Given the description of an element on the screen output the (x, y) to click on. 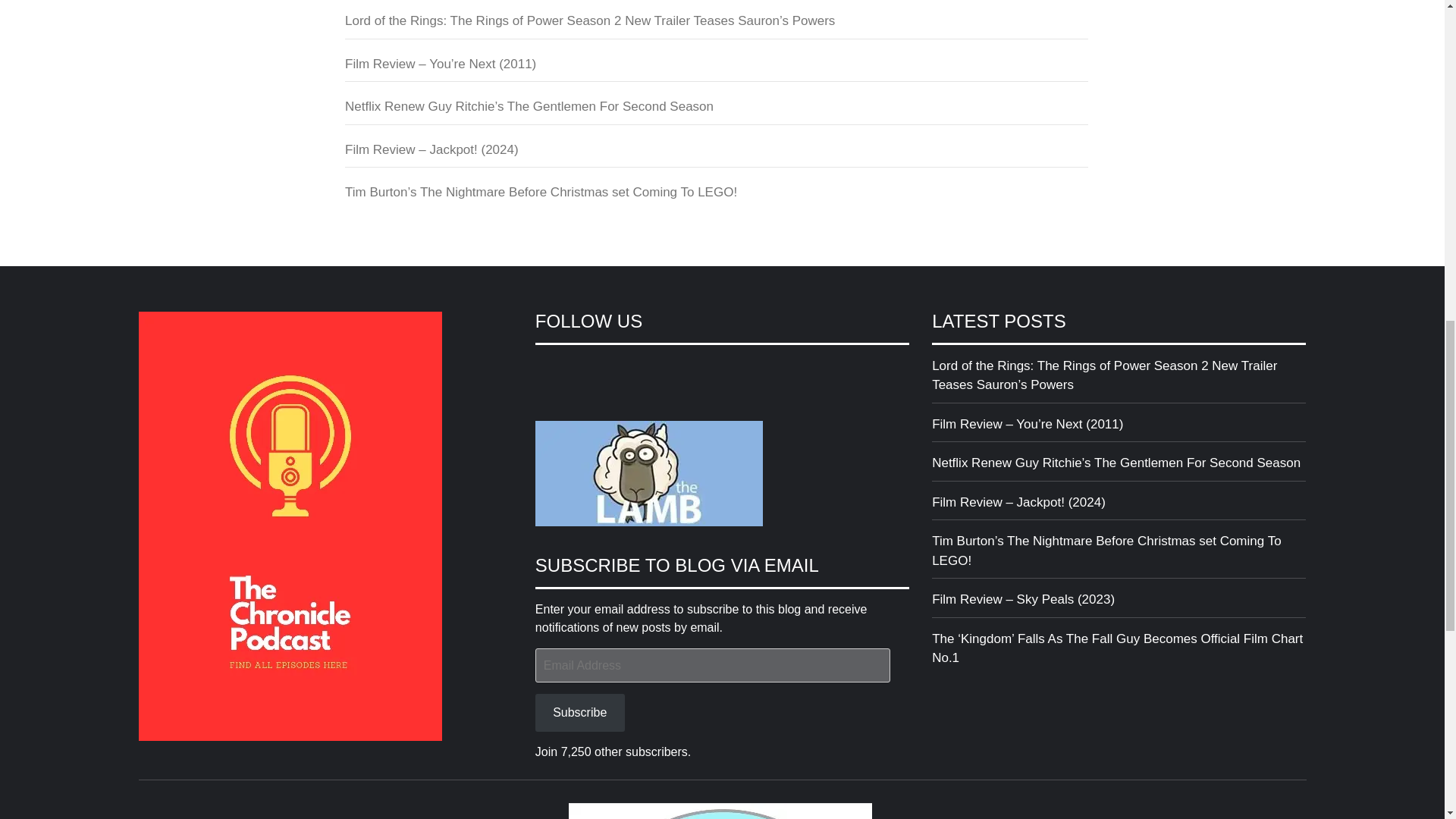
Facebook (547, 368)
Subscribe (579, 712)
YouTube (629, 368)
X (574, 368)
Pinterest (657, 368)
Instagram (602, 368)
